Given the description of an element on the screen output the (x, y) to click on. 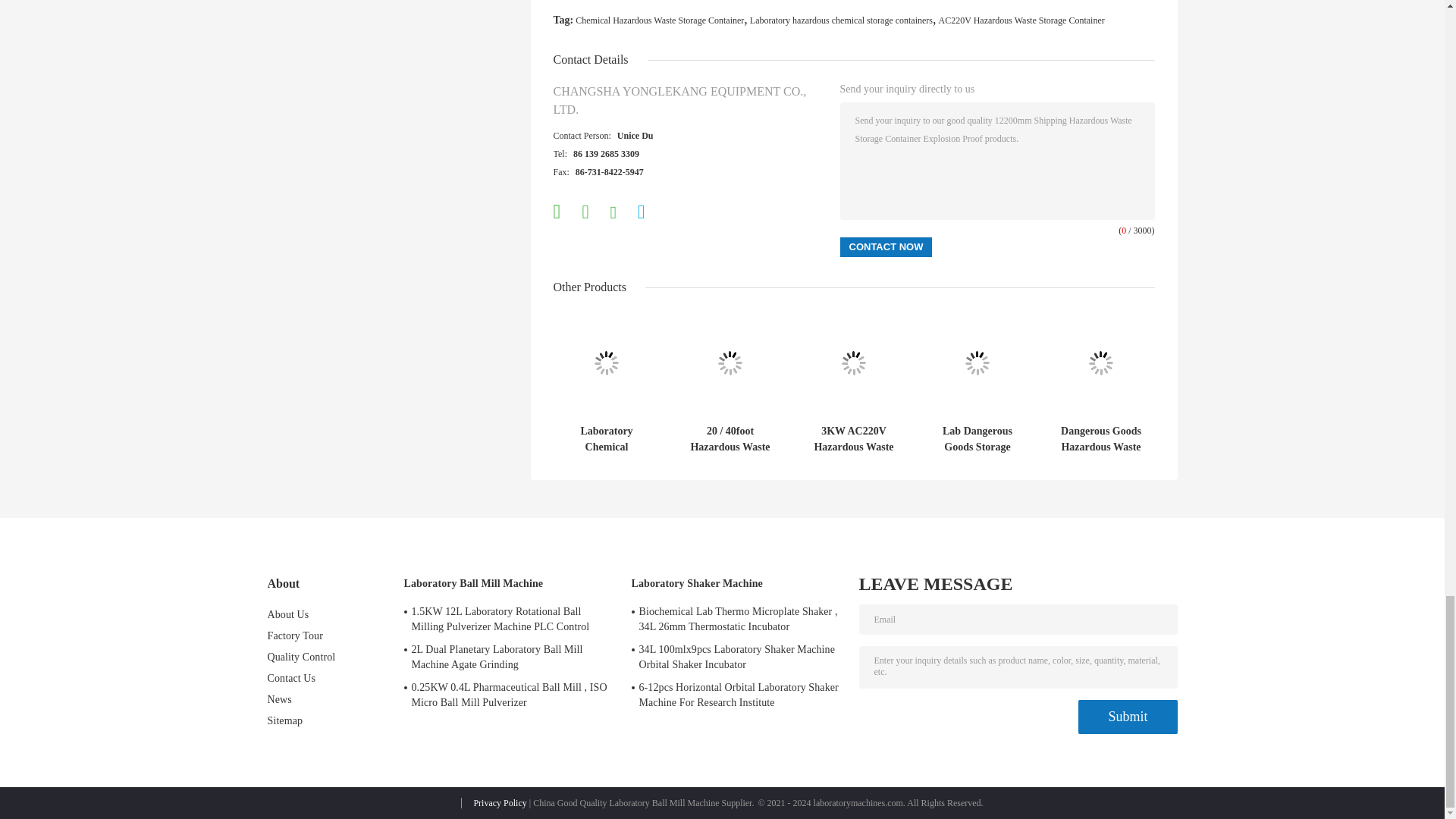
Contact Now (886, 247)
Submit (1127, 716)
